Given the description of an element on the screen output the (x, y) to click on. 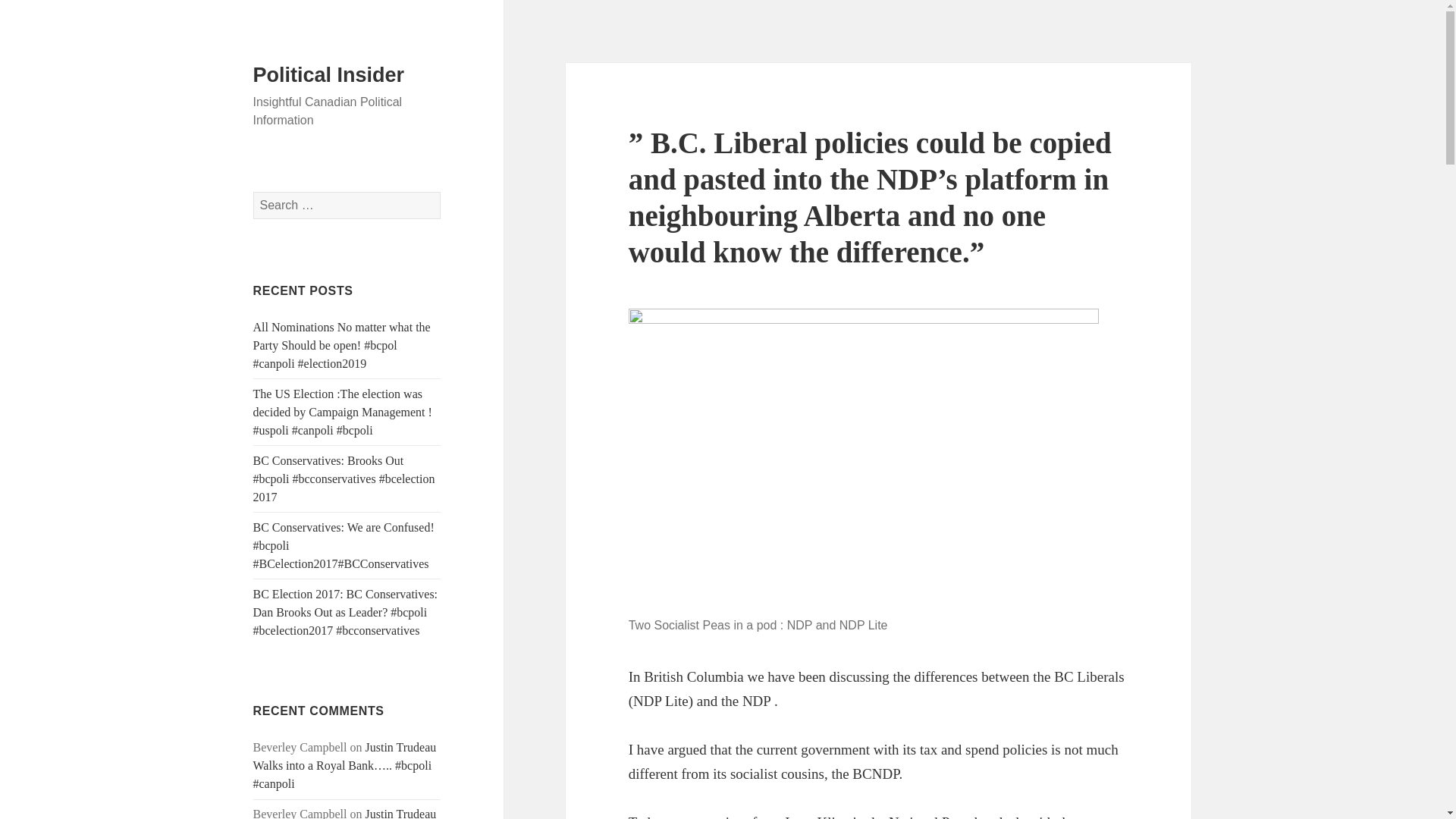
Political Insider (328, 74)
